Given the description of an element on the screen output the (x, y) to click on. 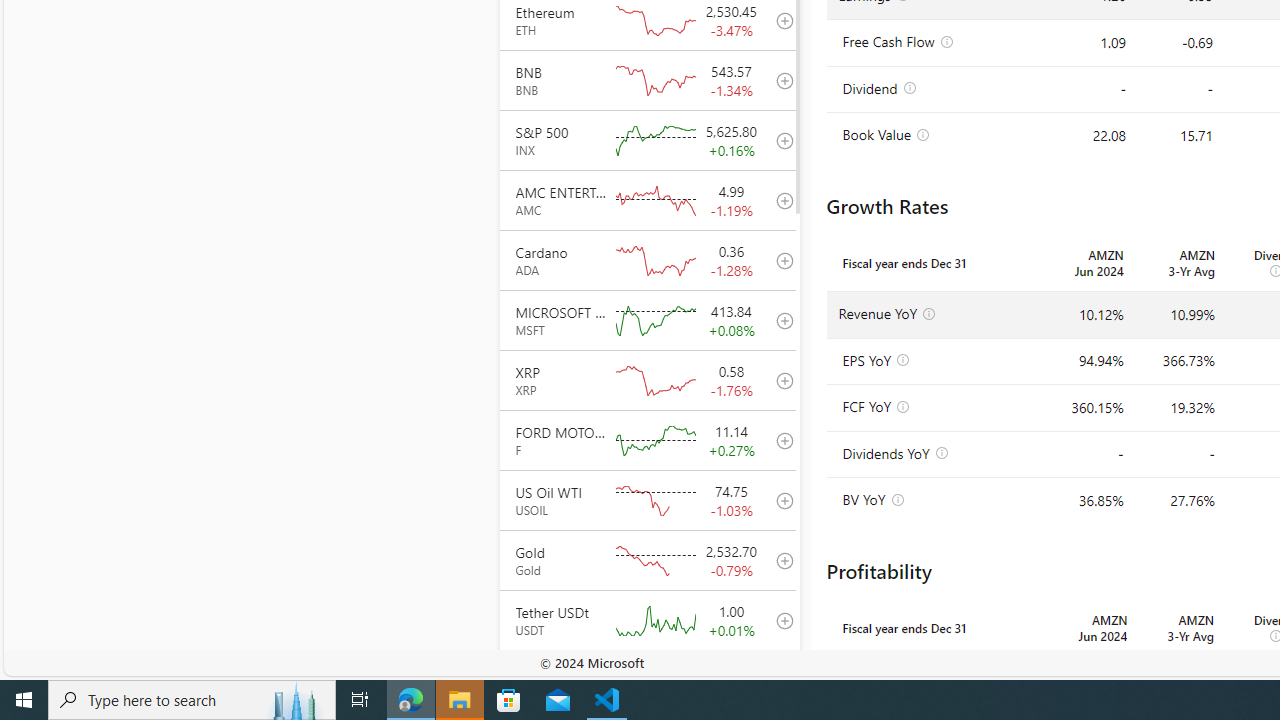
add to your watchlist (779, 680)
